Given the description of an element on the screen output the (x, y) to click on. 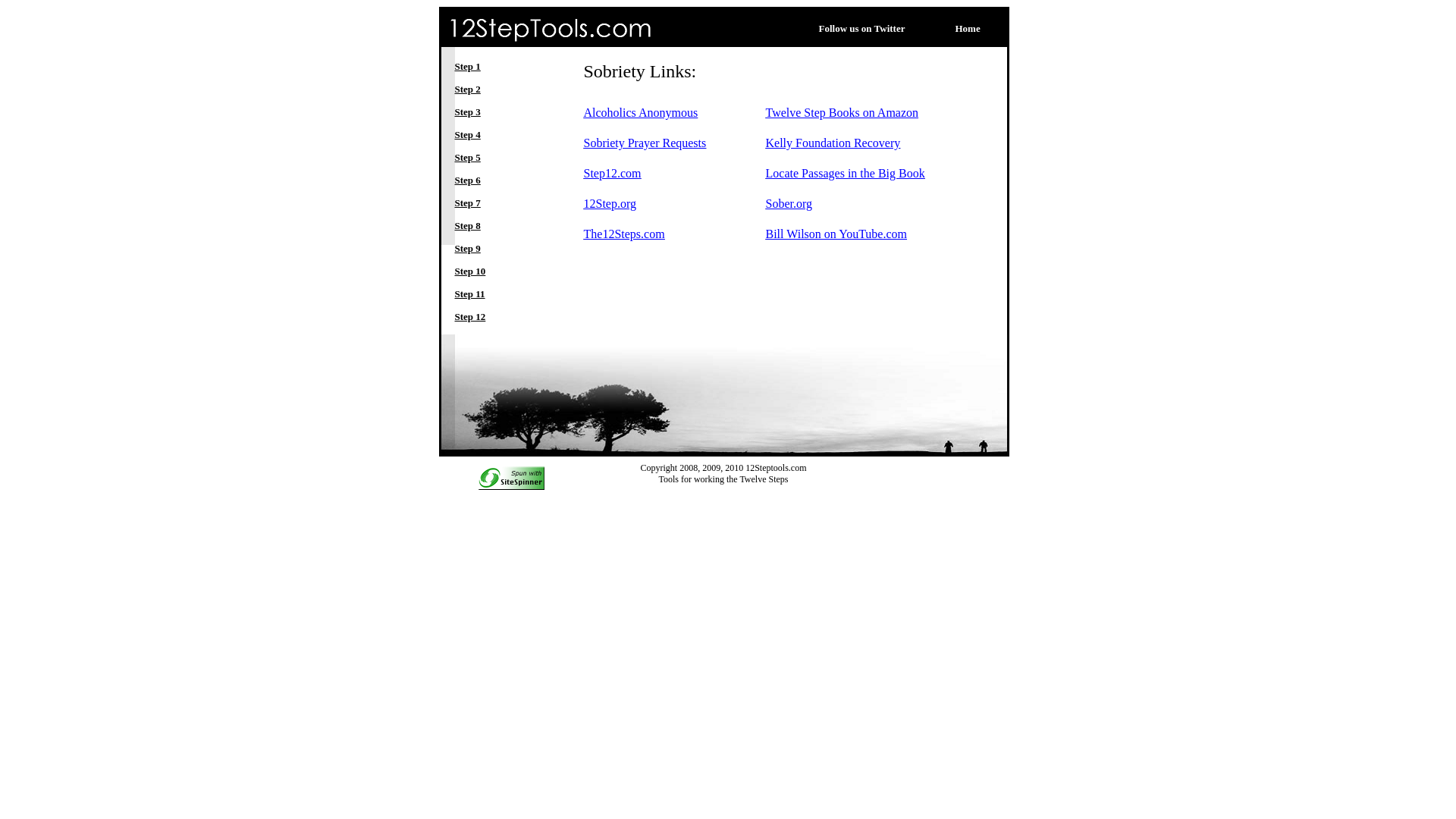
Step 9 Element type: text (467, 247)
Locate Passages in the Big Book Element type: text (845, 172)
Twelve Step Books on Amazon Element type: text (842, 112)
Step 11 Element type: text (470, 292)
Step 1 Element type: text (467, 65)
Step 3 Element type: text (467, 110)
Follow us on Twitter Element type: text (862, 27)
Step12.com Element type: text (612, 172)
Step 6 Element type: text (467, 178)
This Site Spun with Virtual Mechanics SiteSpinner Element type: hover (510, 472)
Step 5 Element type: text (467, 156)
Step 8 Element type: text (467, 224)
Step 7 Element type: text (467, 201)
Alcoholics Anonymous Element type: text (640, 112)
Step 10 Element type: text (470, 269)
12Step.org Element type: text (609, 203)
Step 12 Element type: text (470, 315)
Sobriety Prayer Requests Element type: text (644, 142)
Bill Wilson on YouTube.com Element type: text (836, 233)
Sober.org Element type: text (788, 203)
The12Steps.com Element type: text (624, 233)
Step 2 Element type: text (467, 87)
Step 4 Element type: text (467, 133)
Home Element type: text (967, 27)
Kelly Foundation Recovery Element type: text (832, 142)
